Given the description of an element on the screen output the (x, y) to click on. 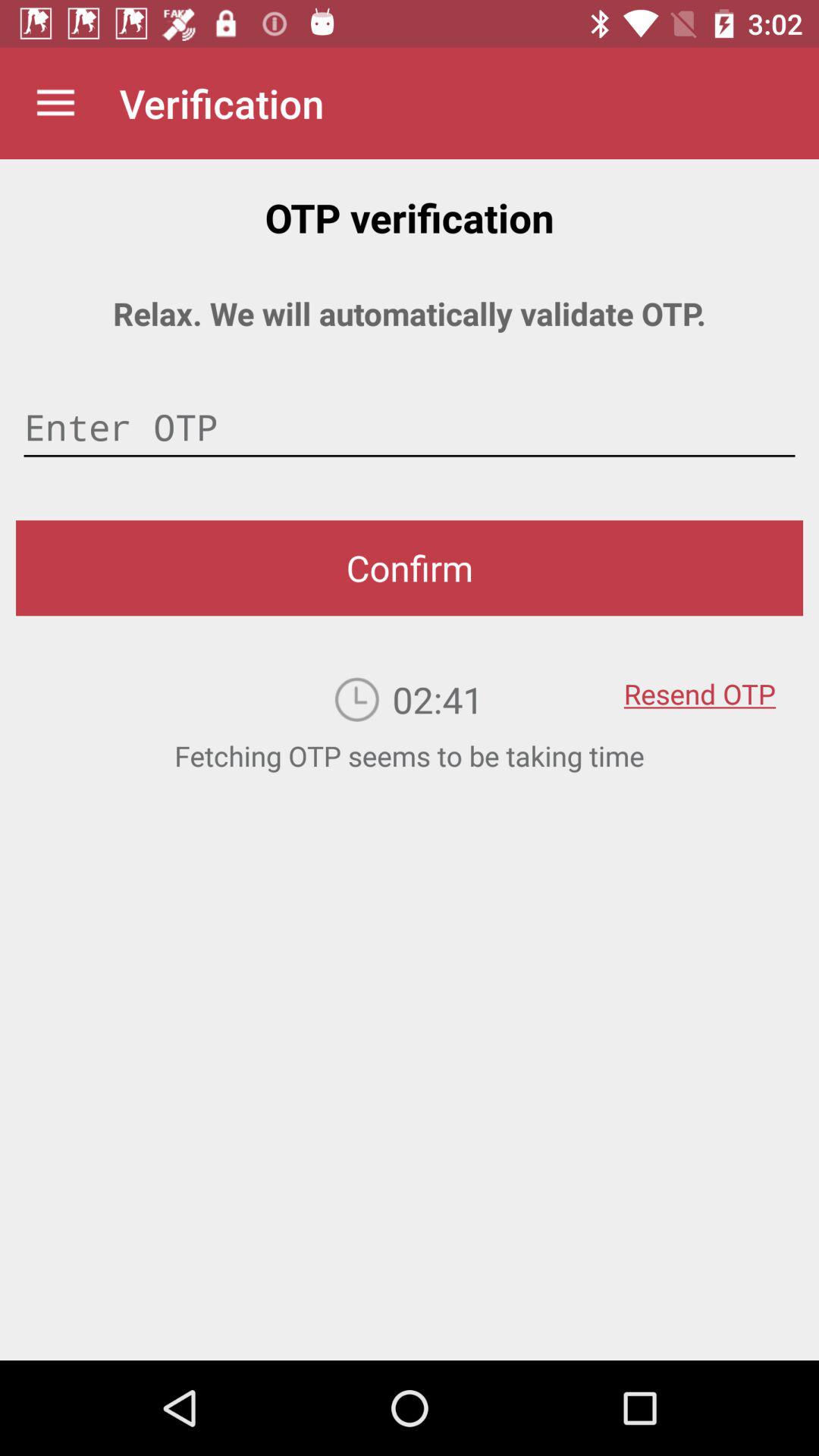
turn on the  resend otp (699, 683)
